Given the description of an element on the screen output the (x, y) to click on. 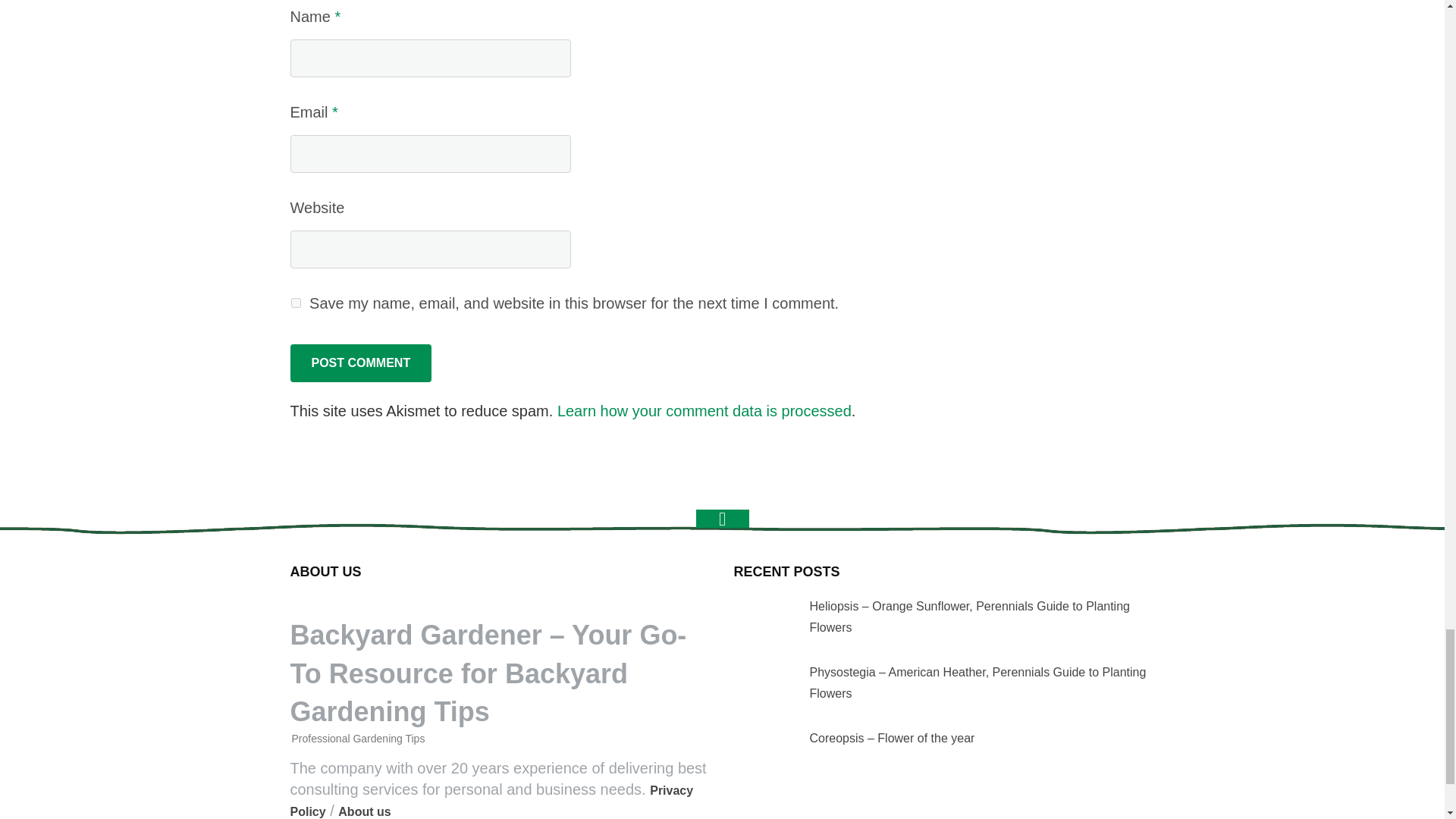
yes (296, 302)
Post Comment (359, 362)
